Given the description of an element on the screen output the (x, y) to click on. 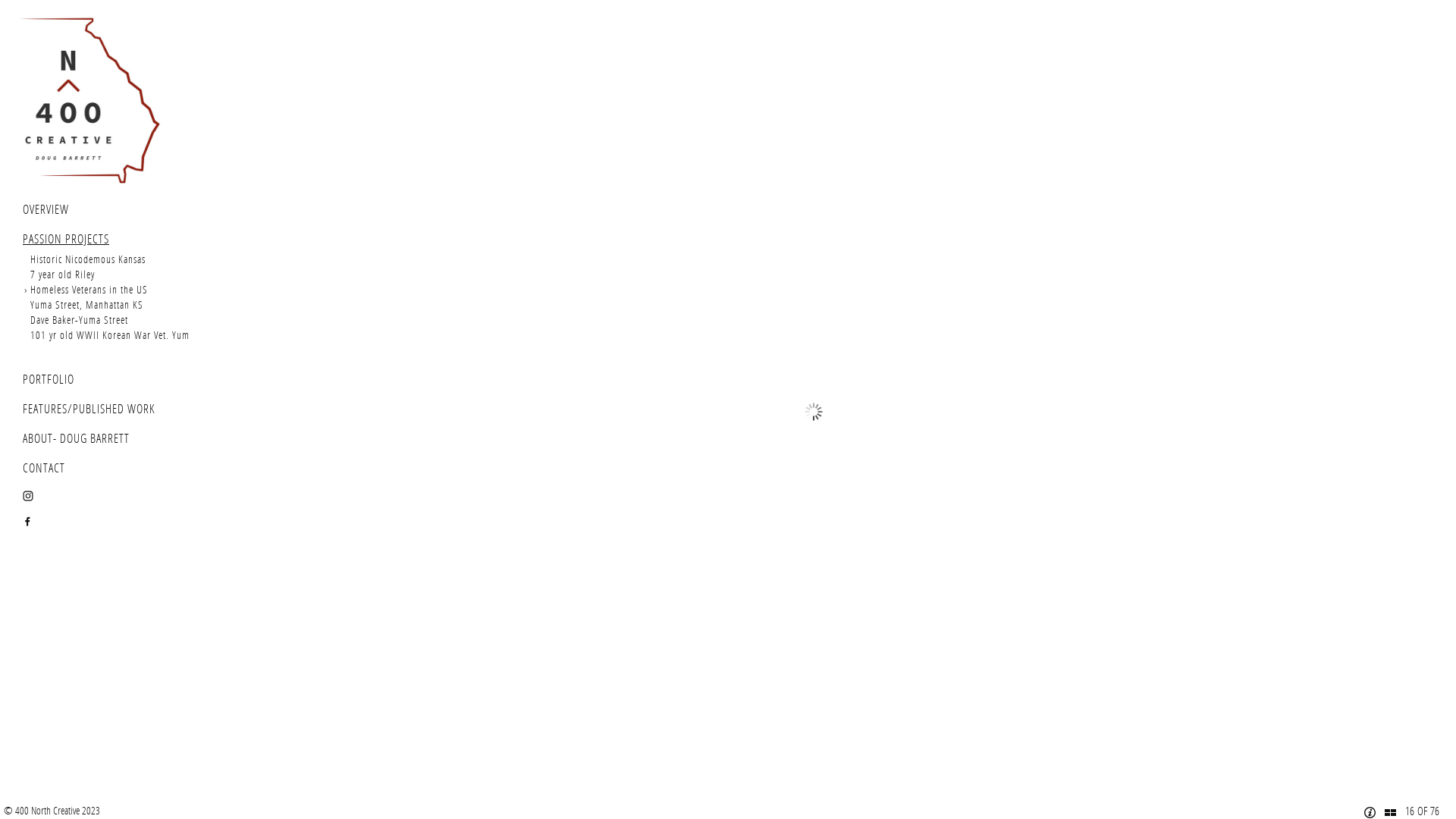
FEATURES/PUBLISHED WORK Element type: text (88, 408)
PASSION PROJECTS Element type: text (65, 239)
Dave Baker-Yuma Street Element type: text (79, 319)
OVERVIEW Element type: text (45, 209)
Yuma Street, Manhattan KS Element type: text (86, 304)
Historic Nicodemous Kansas Element type: text (87, 259)
7 year old Riley Element type: text (62, 274)
ABOUT- DOUG BARRETT Element type: text (75, 438)
16 OF 76 Element type: text (1422, 810)
CONTACT Element type: text (43, 468)
Homeless Veterans in the US Element type: text (88, 289)
PORTFOLIO Element type: text (48, 379)
101 yr old WWII Korean War Vet. Yuma St Element type: text (117, 335)
